Given the description of an element on the screen output the (x, y) to click on. 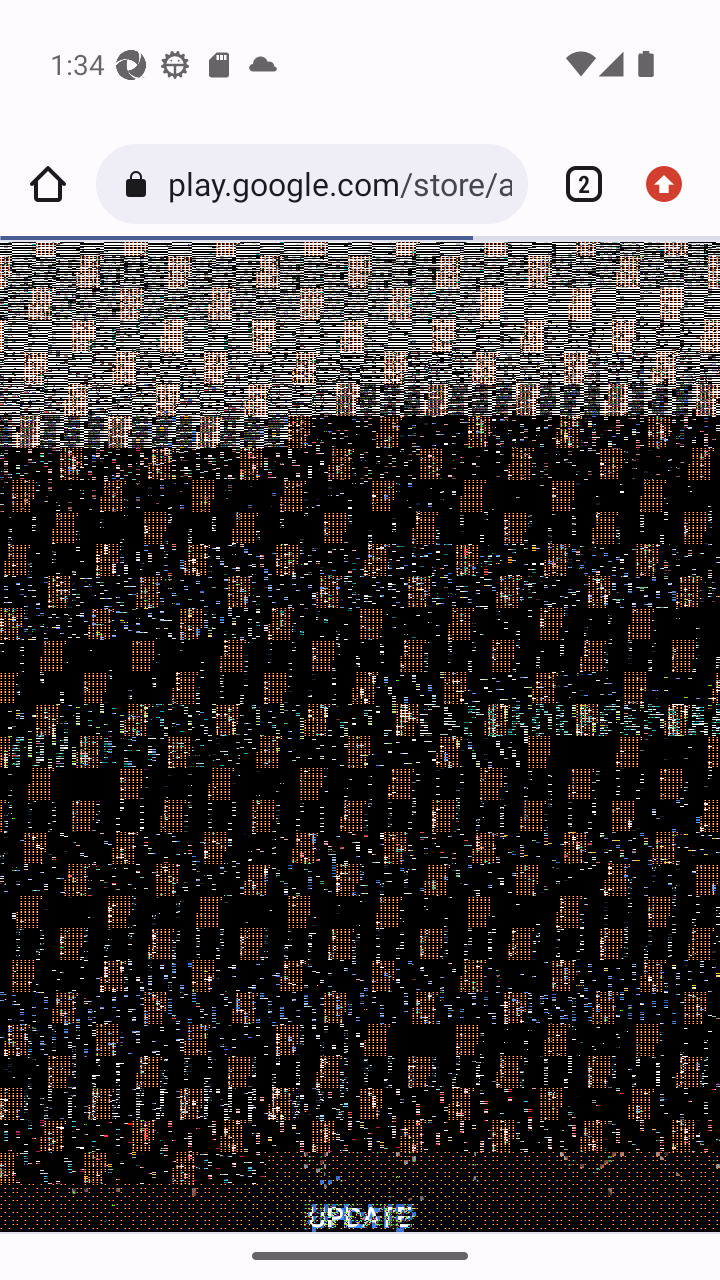
Home (47, 184)
Connection is secure (139, 184)
Switch or close tabs (575, 184)
Update available. More options (672, 184)
